Given the description of an element on the screen output the (x, y) to click on. 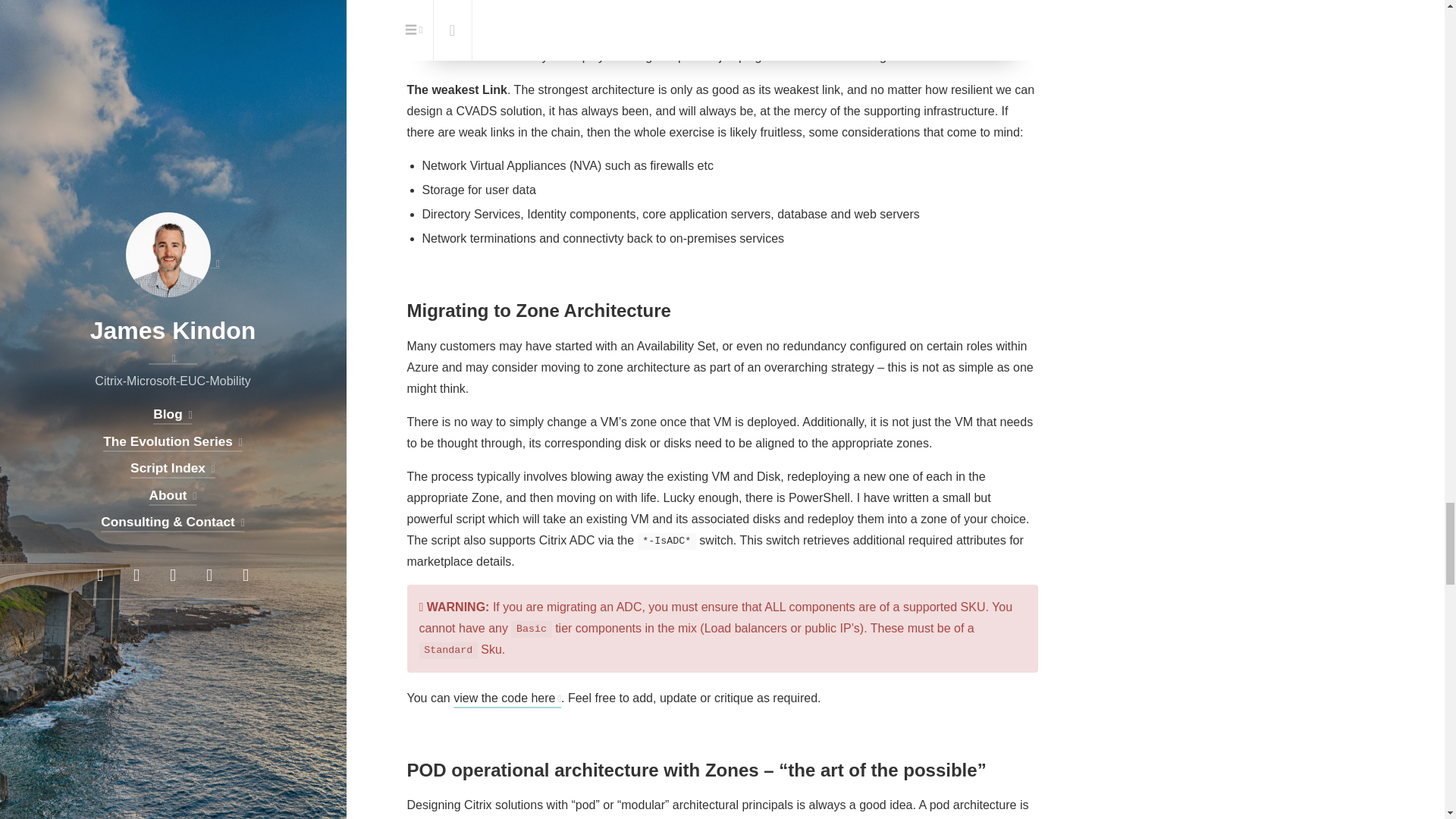
view the code here (506, 697)
